Given the description of an element on the screen output the (x, y) to click on. 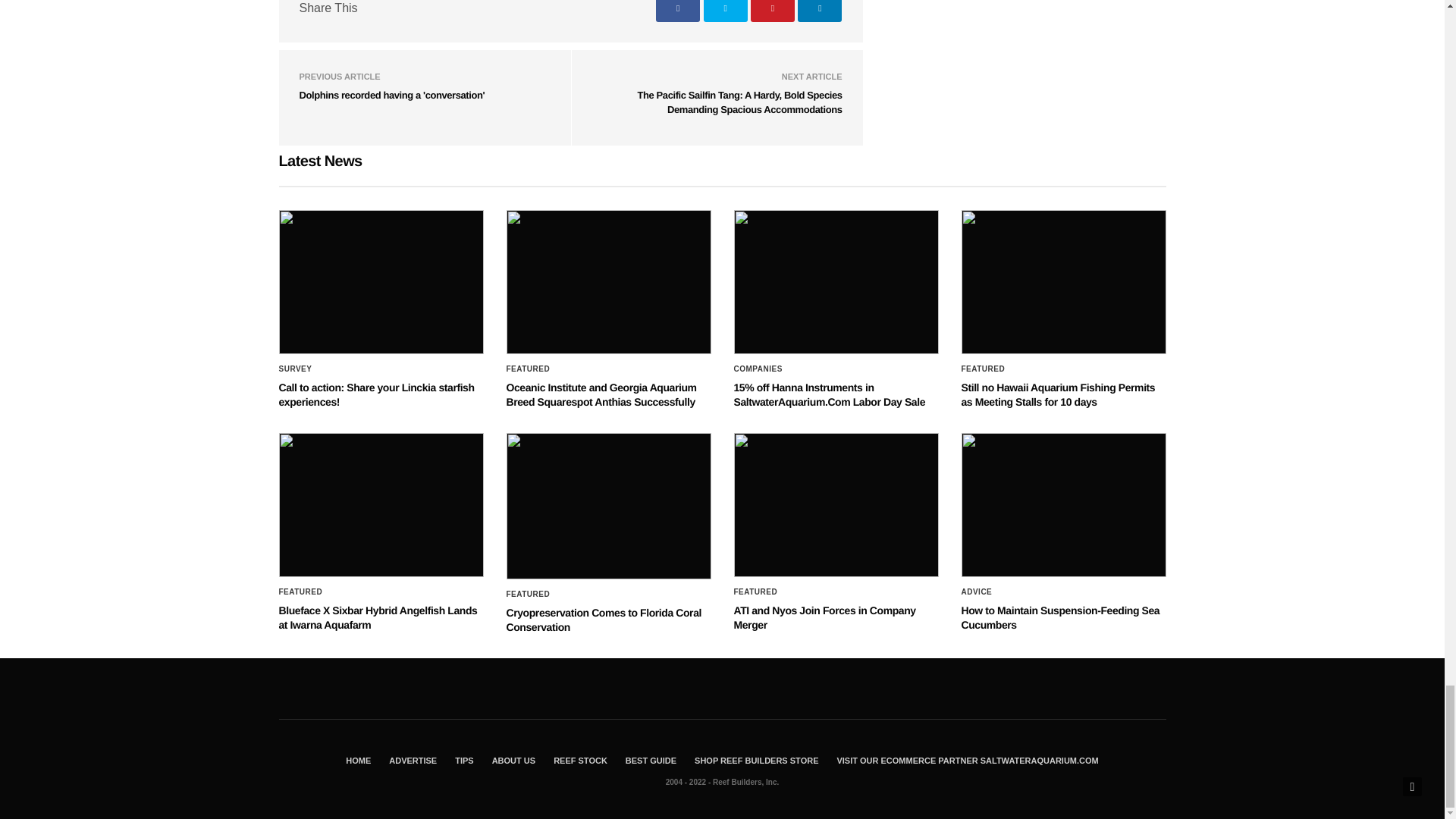
survey (296, 369)
Dolphins recorded having a 'conversation' (391, 94)
Call to action: Share your Linckia starfish experiences! (381, 281)
